Given the description of an element on the screen output the (x, y) to click on. 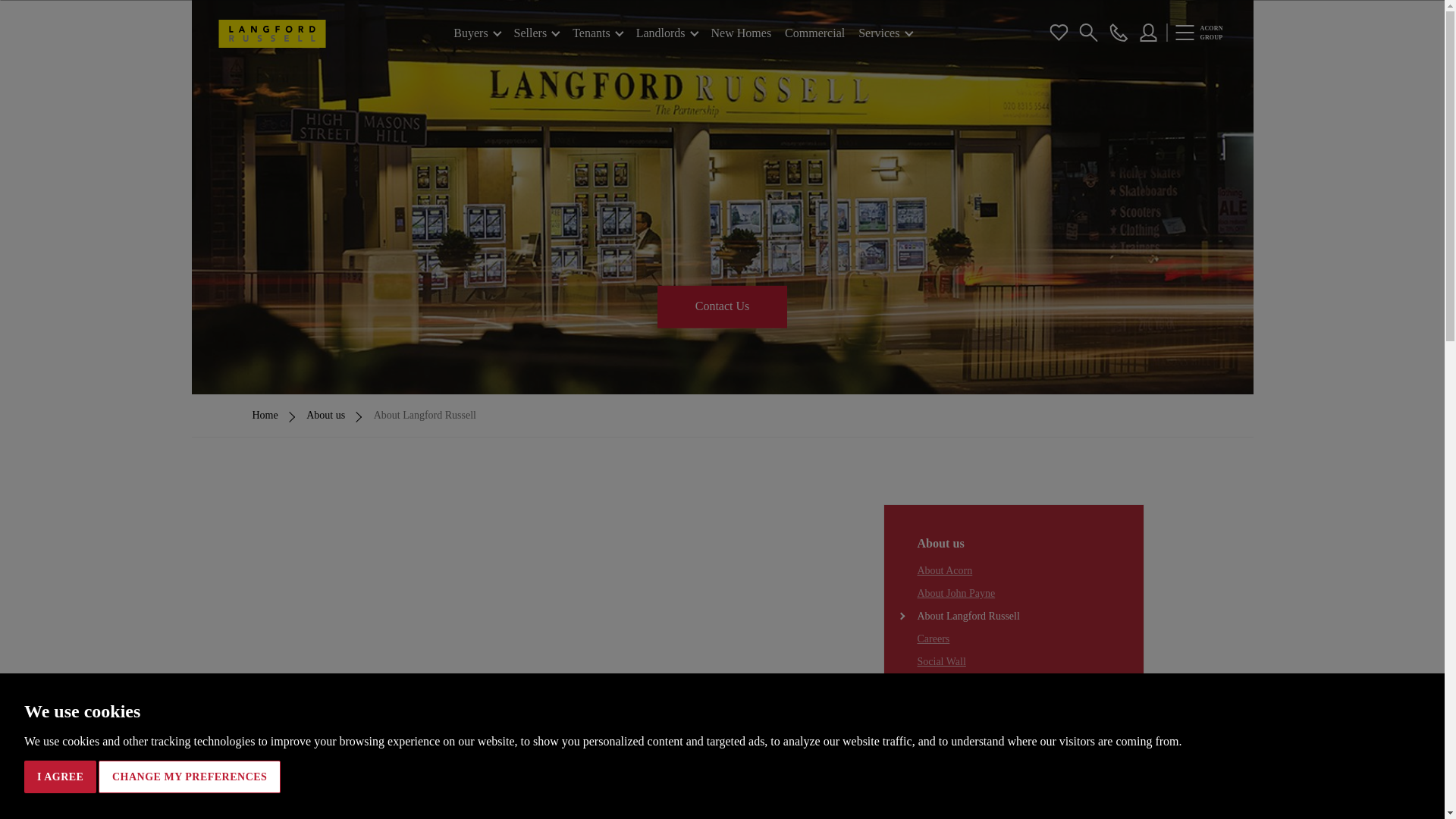
Langford Russell Logo (272, 33)
Sellers (536, 33)
Buyers (475, 33)
Langford Russell (272, 33)
Langford Russell Logo (272, 33)
Tenants (597, 33)
Wishlist (1058, 31)
CHANGE MY PREFERENCES (190, 776)
I AGREE (60, 776)
